Given the description of an element on the screen output the (x, y) to click on. 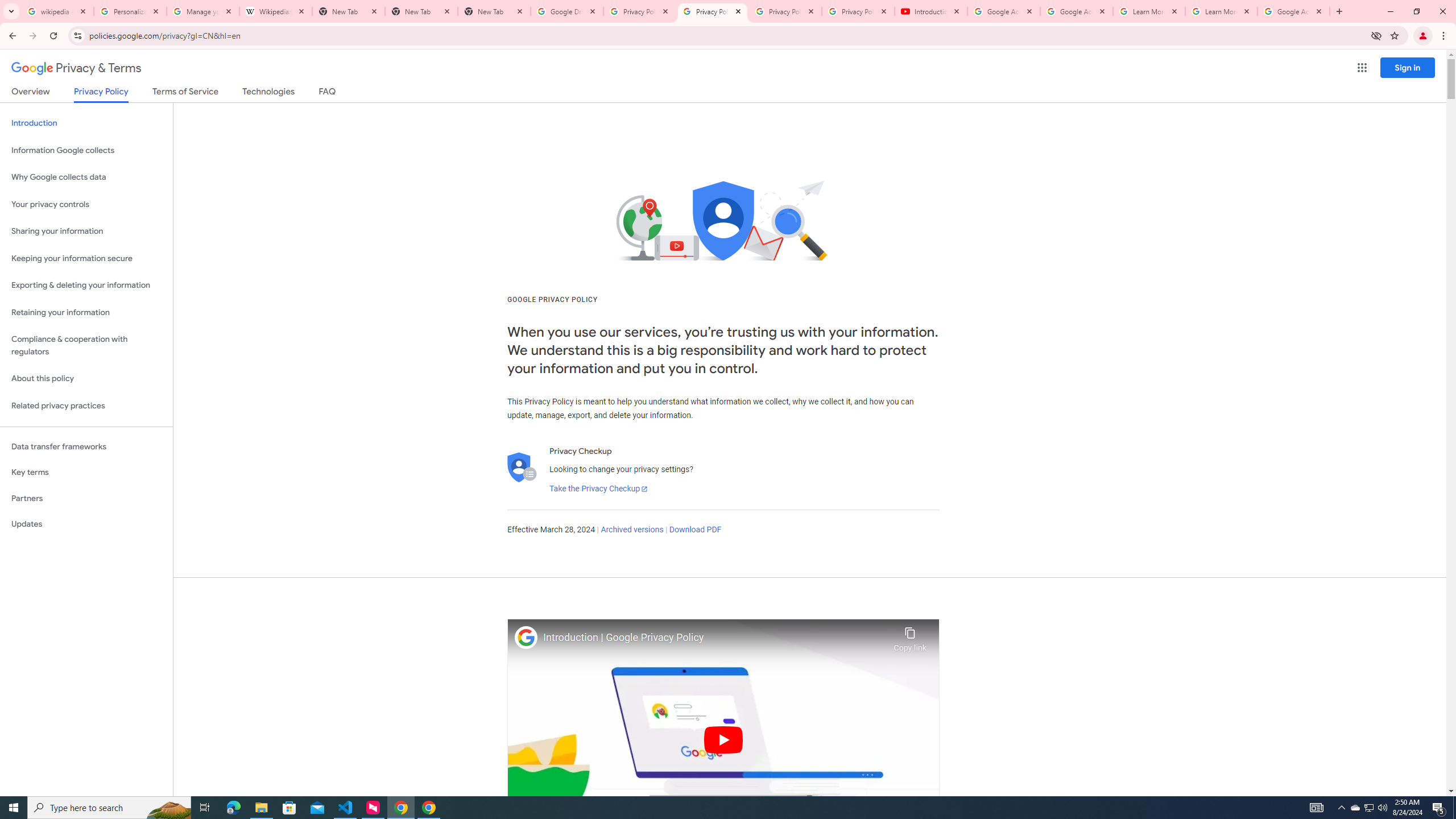
Wikipedia:Edit requests - Wikipedia (275, 11)
Privacy Policy (100, 94)
Key terms (86, 472)
Sharing your information (86, 230)
Related privacy practices (86, 405)
Google Account Help (1076, 11)
